Given the description of an element on the screen output the (x, y) to click on. 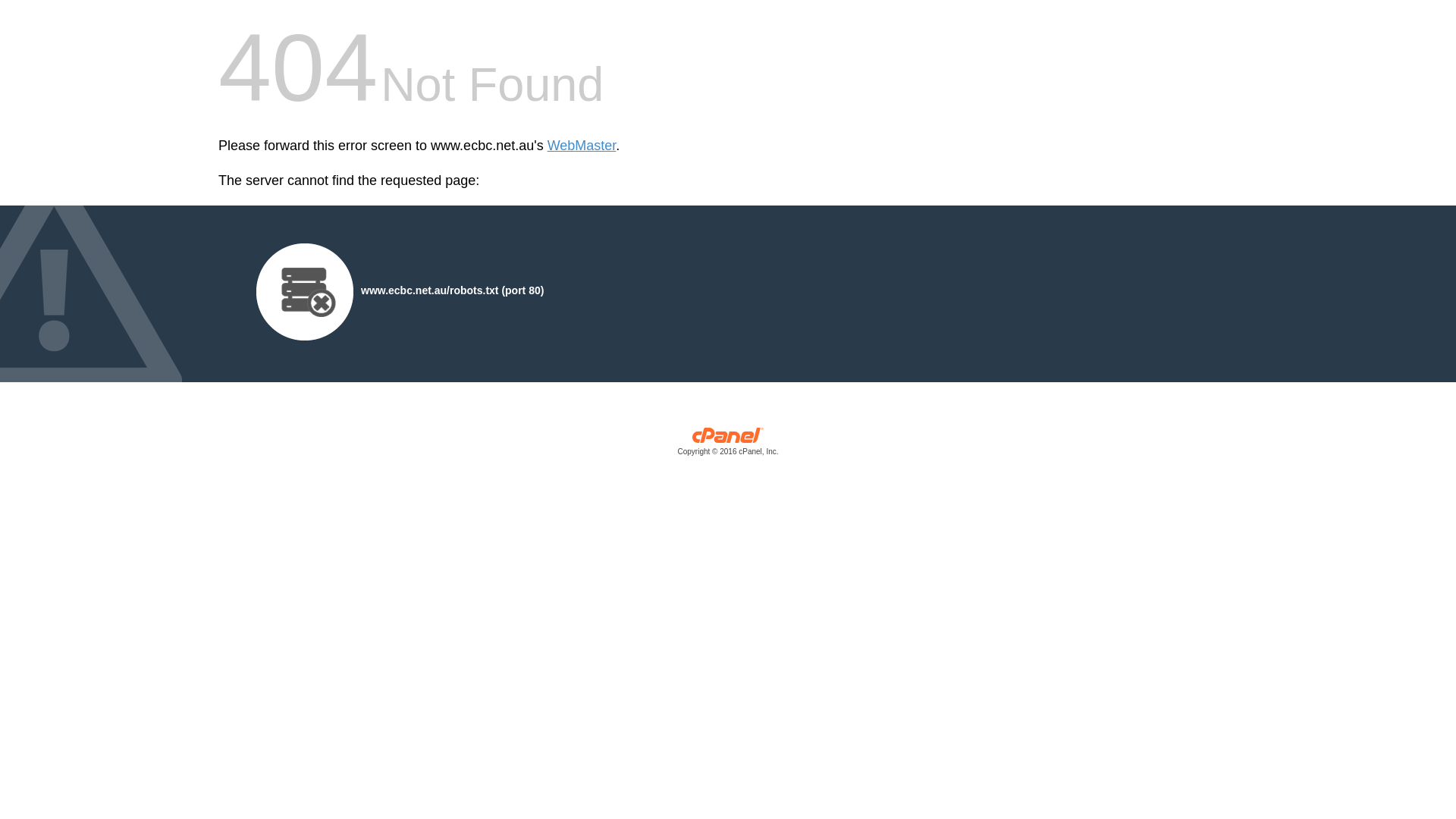
WebMaster Element type: text (581, 145)
